Given the description of an element on the screen output the (x, y) to click on. 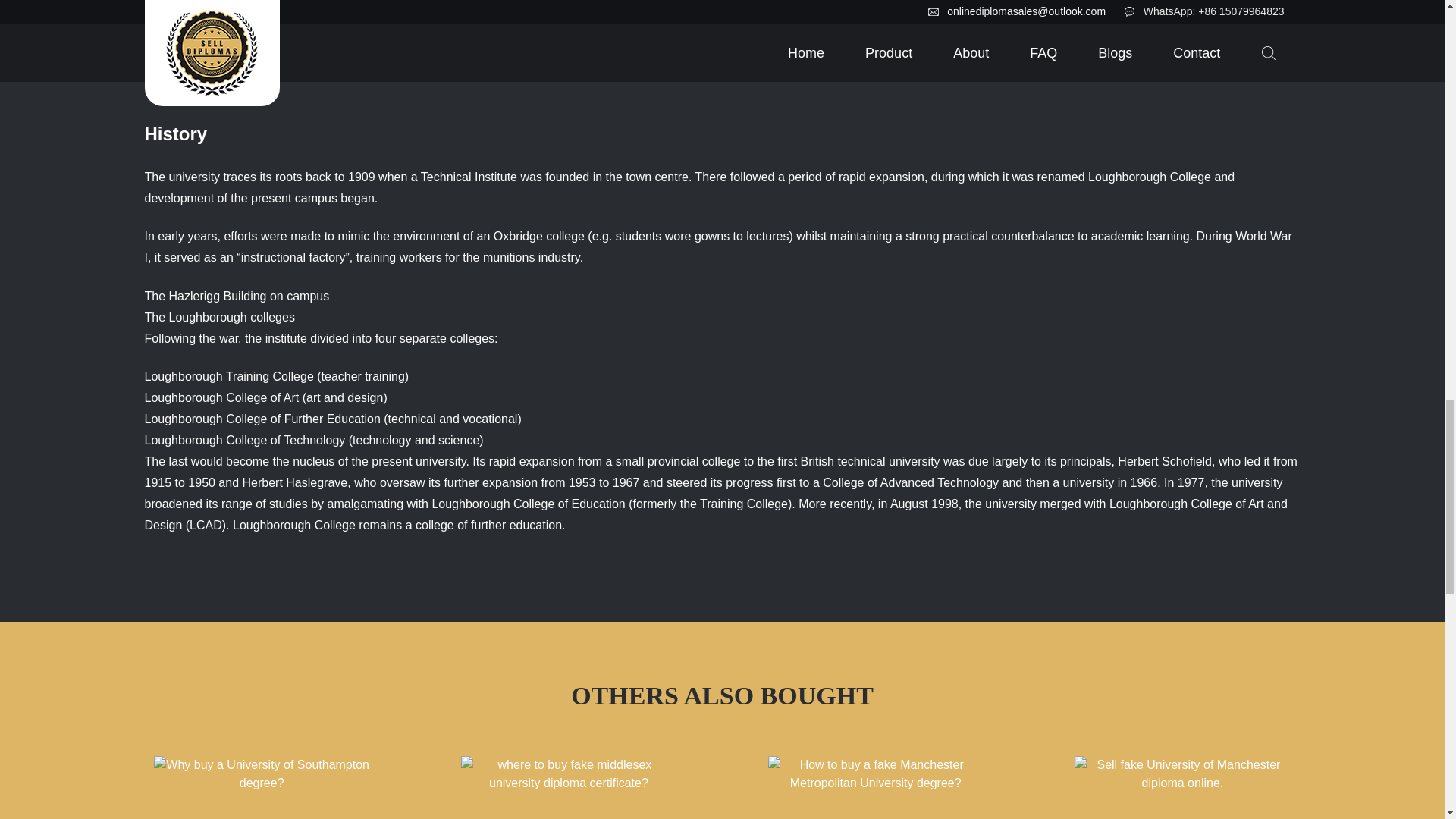
Why buy a University of Southampton degree? (261, 782)
Why buy a University of Southampton degree? (261, 787)
Sell fake University of Manchester diploma online. (1182, 782)
where to buy fake middlesex university diploma certificate? (568, 782)
Sell fake University of Manchester diploma online. (1182, 787)
where to buy fake middlesex university diploma certificate? (569, 787)
How to buy a fake Manchester Metropolitan University degree? (875, 782)
How to buy a fake Manchester Metropolitan University degree? (876, 787)
The university (181, 176)
YouTube video player (257, 55)
